Given the description of an element on the screen output the (x, y) to click on. 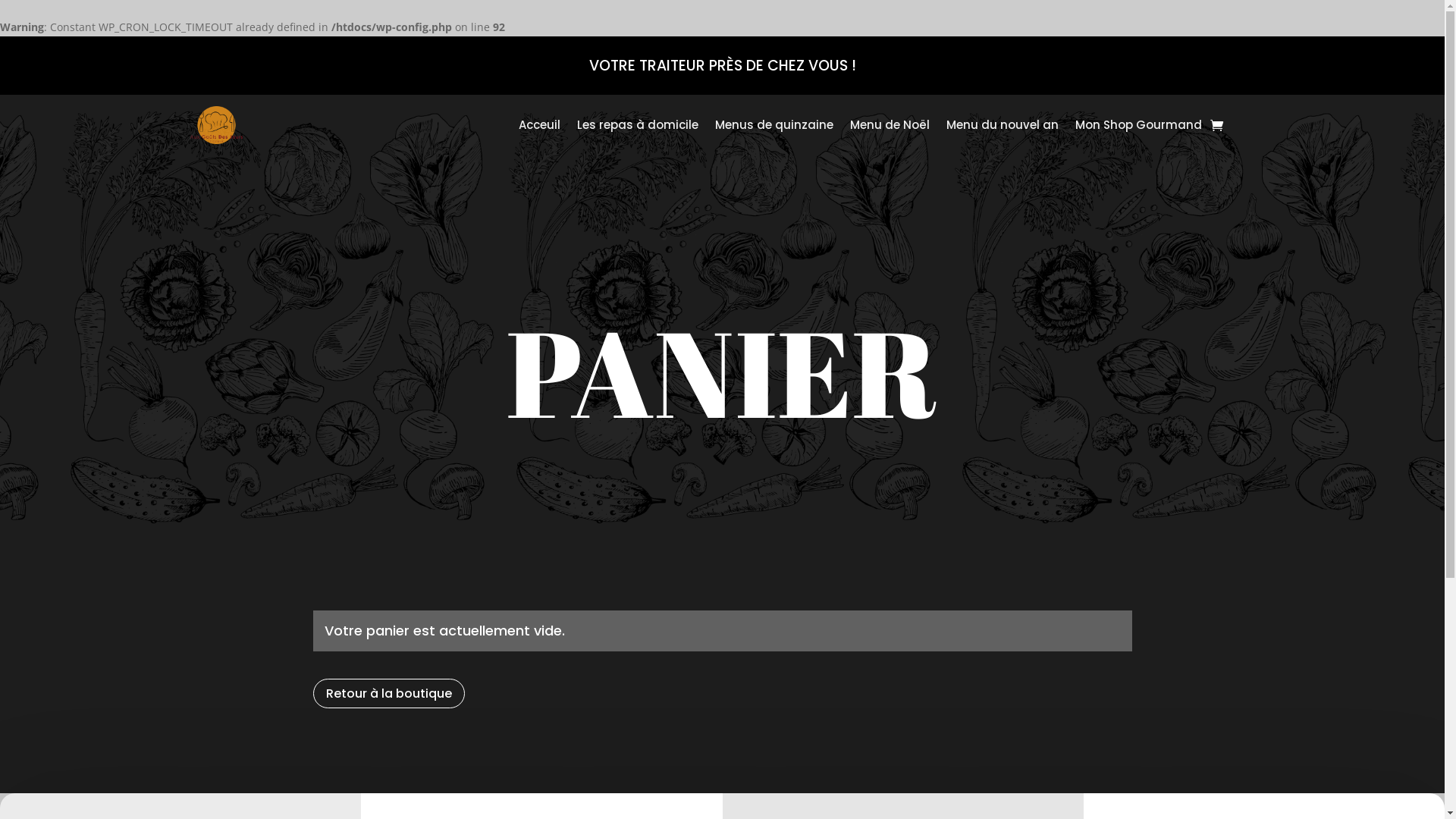
Mon Shop Gourmand Element type: text (1138, 124)
Menu du nouvel an Element type: text (1002, 124)
Acceuil Element type: text (539, 124)
Menus de quinzaine Element type: text (774, 124)
